Given the description of an element on the screen output the (x, y) to click on. 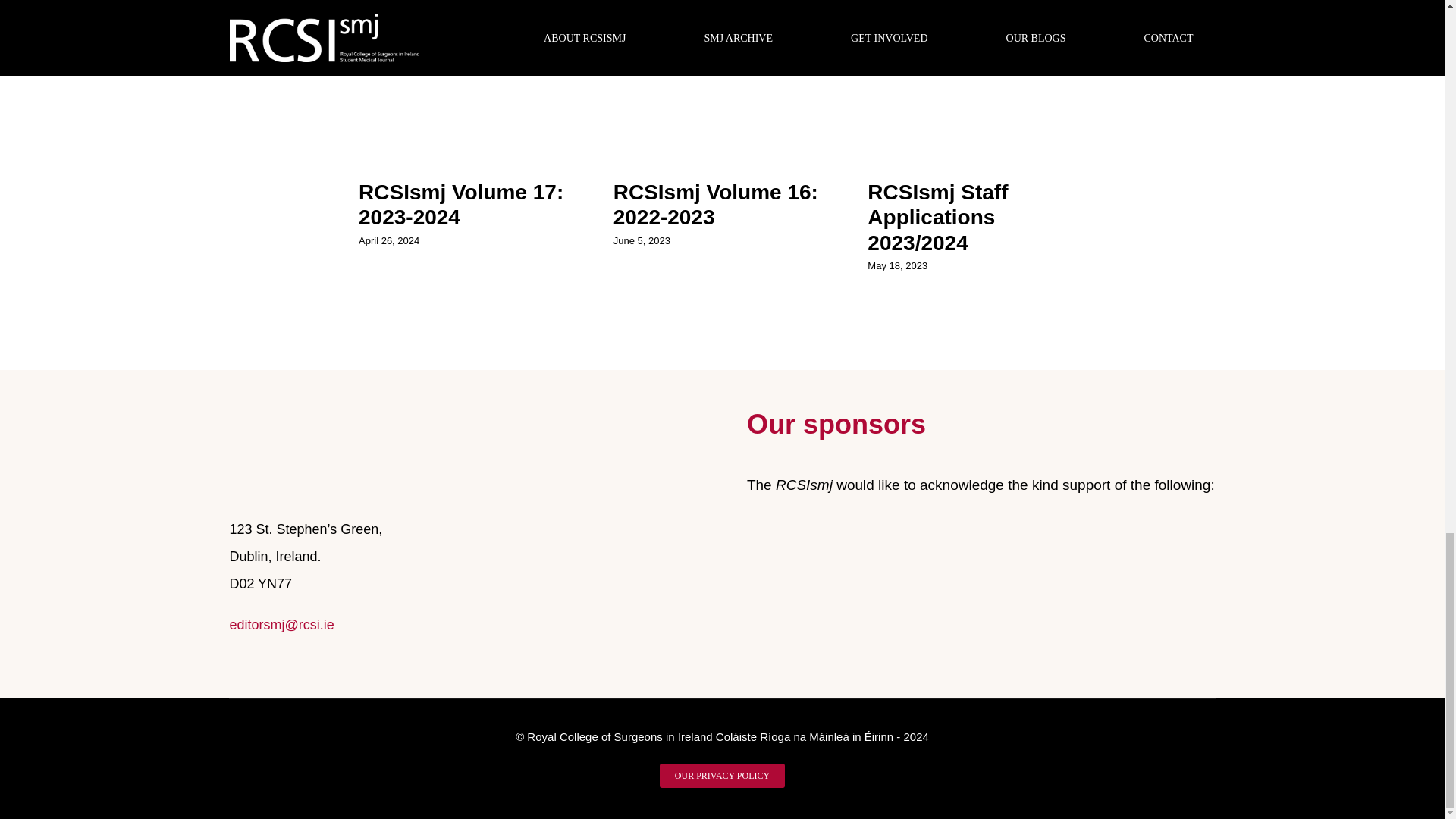
RCSIsmj Volume 16: 2022-2023 (715, 205)
SupportersLogos (980, 546)
RCSIsmj Volume 17: 2023-2024 (460, 205)
